Given the description of an element on the screen output the (x, y) to click on. 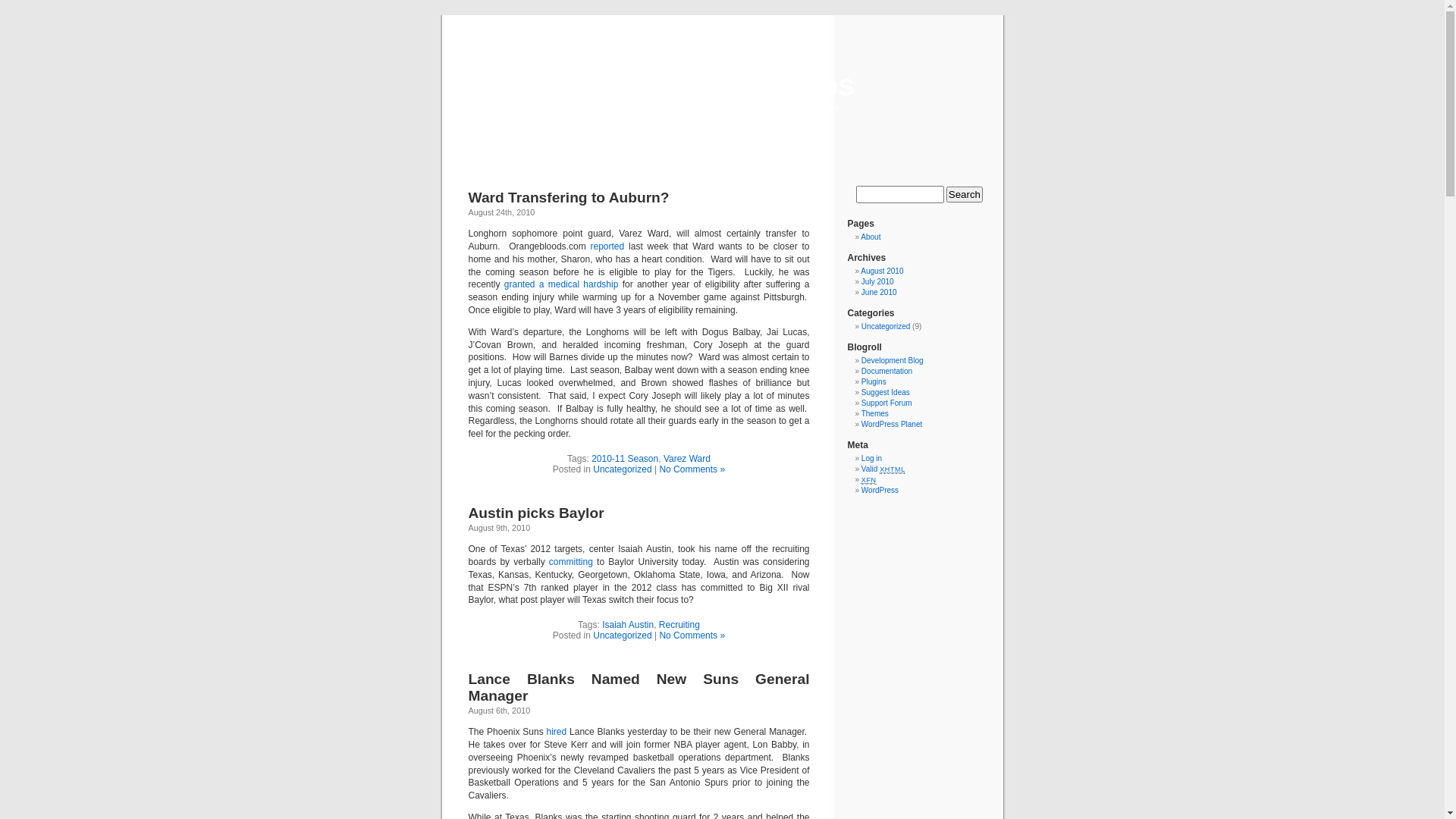
40 Acres of Hoops Element type: text (722, 84)
Valid XHTML Element type: text (883, 468)
Varez Ward Element type: text (686, 458)
July 2010 Element type: text (877, 281)
Documentation Element type: text (886, 371)
Recruiting Element type: text (678, 624)
June 2010 Element type: text (879, 292)
XFN Element type: text (868, 479)
Uncategorized Element type: text (622, 635)
Search Element type: text (964, 194)
Support Forum Element type: text (886, 402)
WordPress Element type: text (879, 490)
About Element type: text (870, 236)
Themes Element type: text (874, 413)
Uncategorized Element type: text (885, 326)
committing Element type: text (569, 561)
2010-11 Season Element type: text (624, 458)
August 2010 Element type: text (881, 270)
Lance Blanks Named New Suns General Manager Element type: text (638, 687)
WordPress Planet Element type: text (891, 424)
Ward Transfering to Auburn? Element type: text (568, 197)
Plugins Element type: text (873, 381)
granted a medical hardship Element type: text (561, 284)
hired Element type: text (556, 731)
Uncategorized Element type: text (622, 469)
Log in Element type: text (871, 458)
Isaiah Austin Element type: text (627, 624)
Development Blog Element type: text (892, 360)
Suggest Ideas Element type: text (885, 392)
Austin picks Baylor Element type: text (536, 512)
reported Element type: text (606, 246)
